Given the description of an element on the screen output the (x, y) to click on. 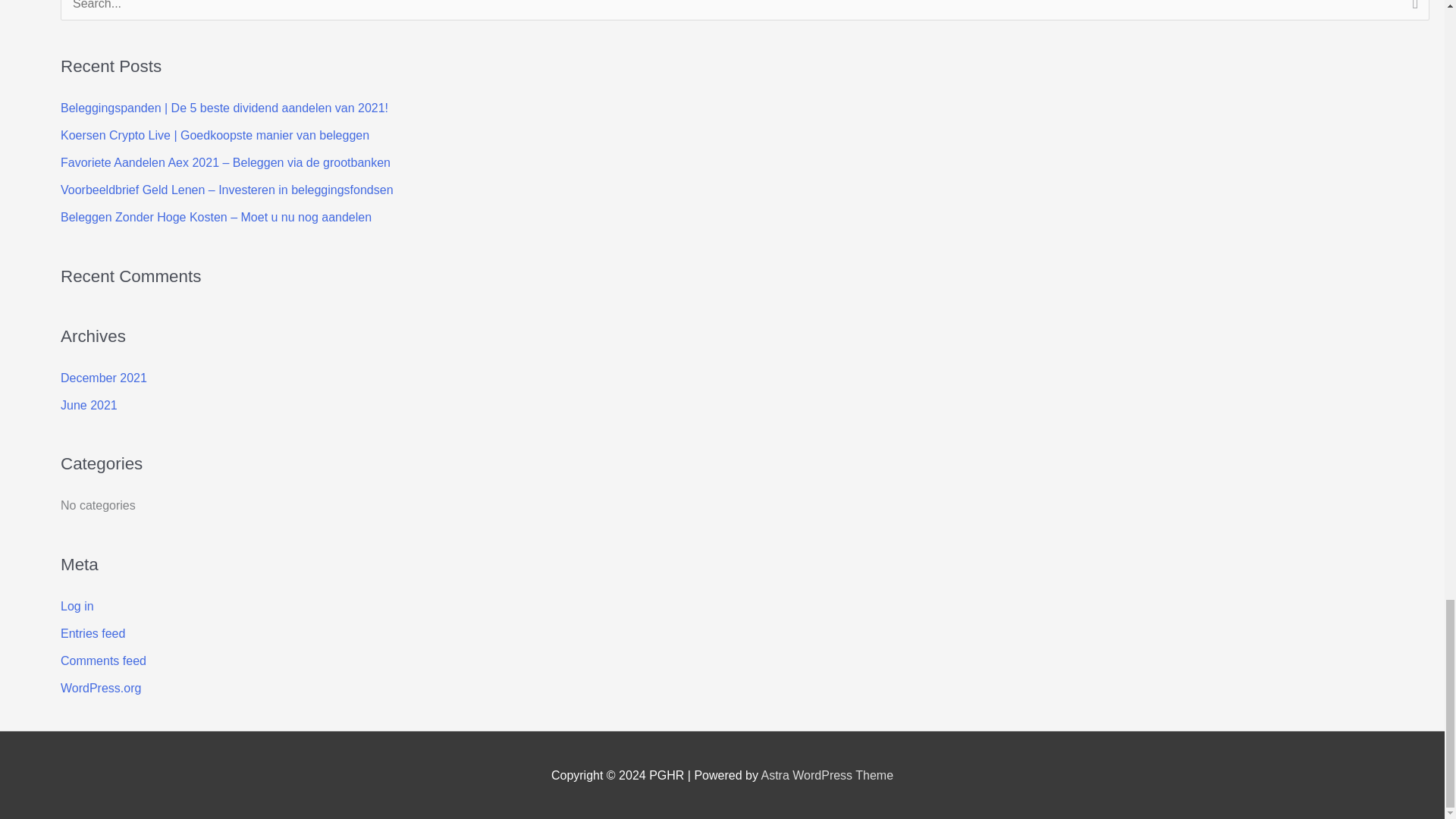
Search (1411, 14)
Search (1411, 14)
Search (1411, 14)
